Given the description of an element on the screen output the (x, y) to click on. 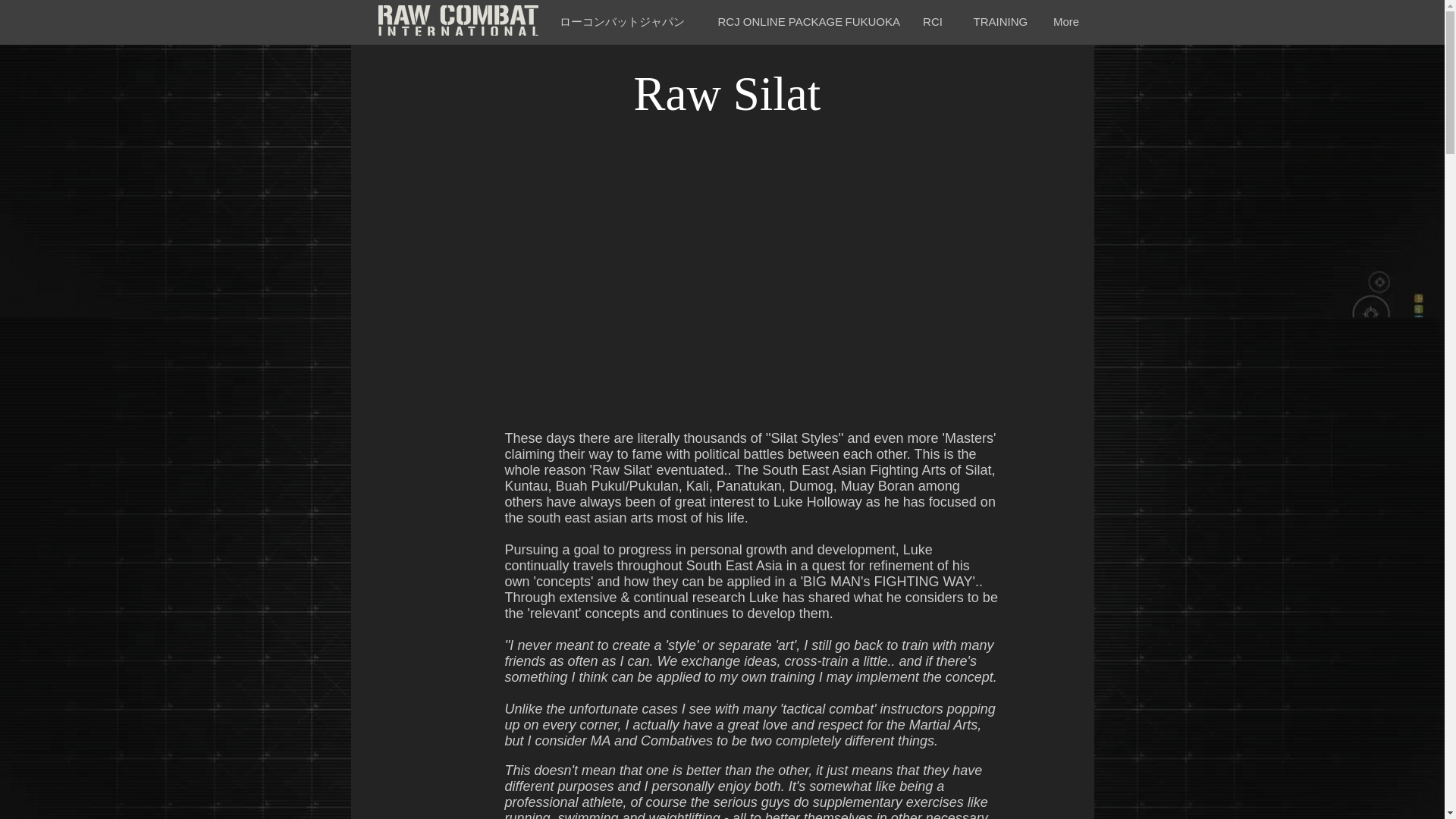
TRAINING (997, 21)
RCJ ONLINE PACKAGE (765, 21)
FUKUOKA (868, 21)
External YouTube (749, 279)
RCI.png (457, 20)
RCI (932, 21)
